Given the description of an element on the screen output the (x, y) to click on. 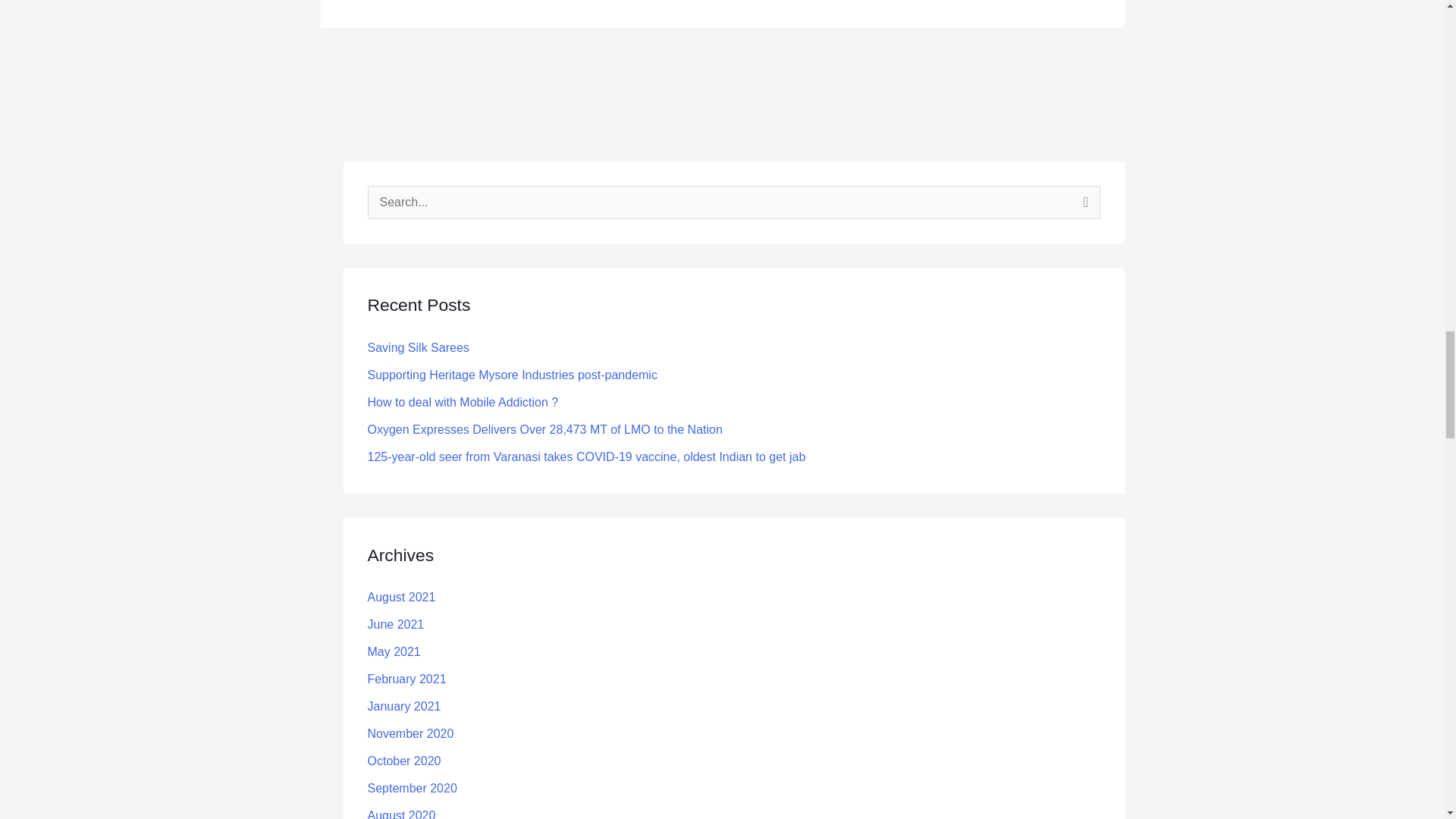
January 2021 (403, 706)
August 2020 (400, 814)
Supporting Heritage Mysore Industries post-pandemic (511, 374)
November 2020 (409, 733)
August 2021 (400, 596)
May 2021 (393, 651)
June 2021 (394, 624)
September 2020 (411, 788)
